Given the description of an element on the screen output the (x, y) to click on. 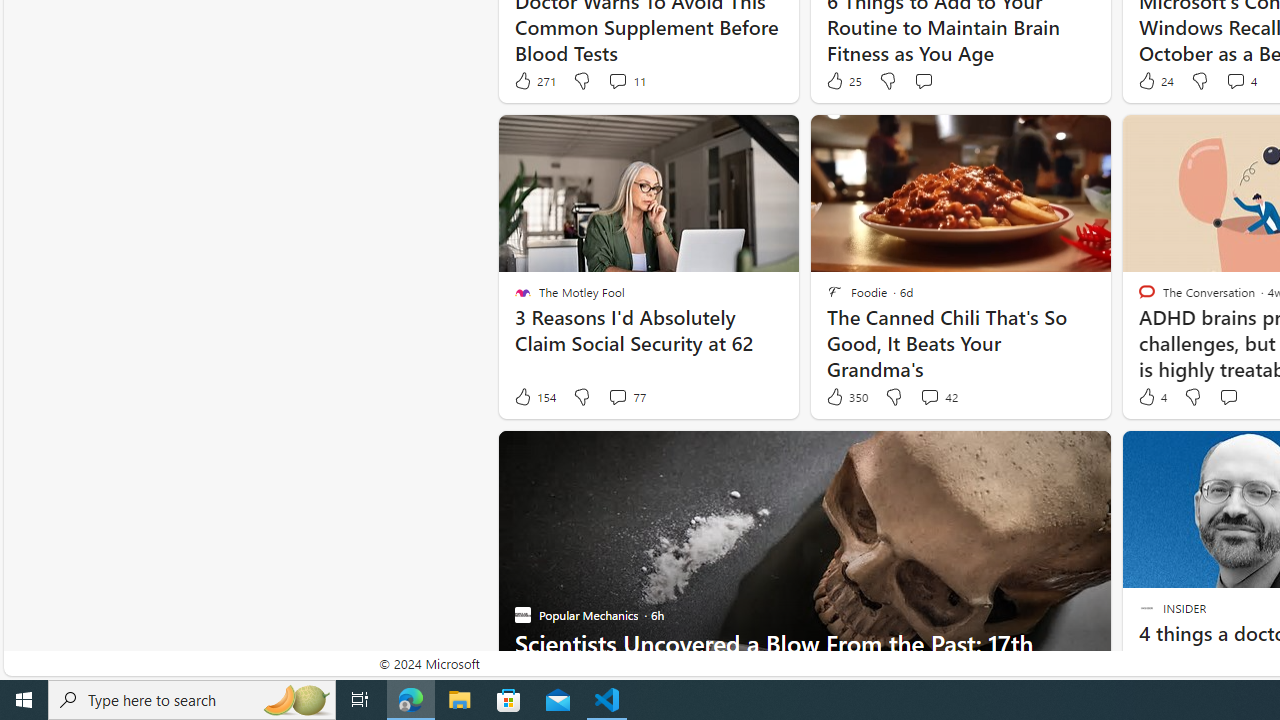
View comments 77 Comment (626, 397)
View comments 4 Comment (1234, 80)
View comments 11 Comment (617, 80)
154 Like (534, 397)
